Given the description of an element on the screen output the (x, y) to click on. 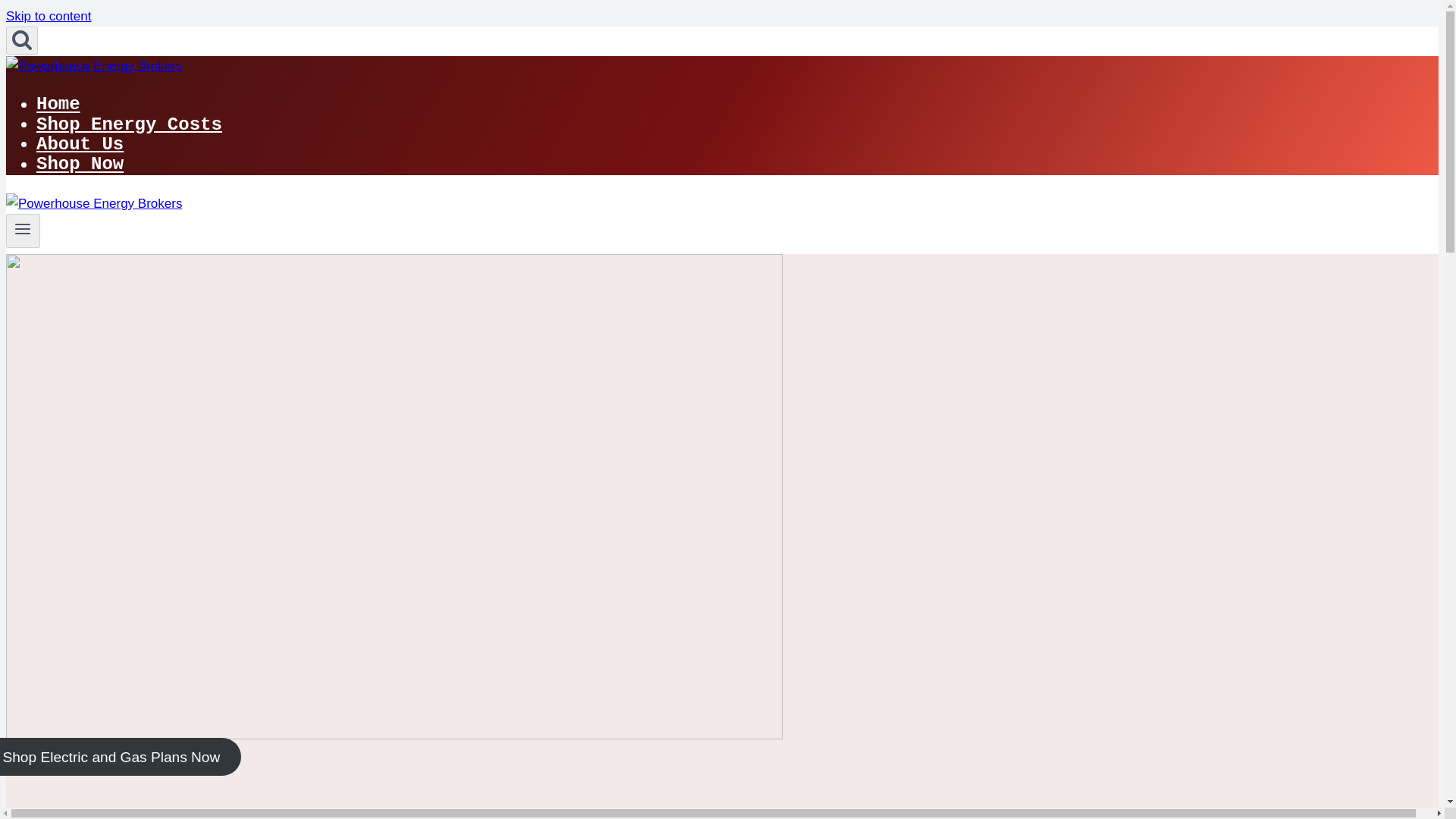
Toggle Menu (22, 230)
Home (58, 104)
Shop Energy Costs (129, 125)
Shop Now (79, 164)
Skip to content (47, 16)
Shop Electric and Gas Plans Now (120, 756)
Skip to content (47, 16)
About Us (79, 144)
Toggle Menu (22, 229)
Search (21, 38)
Search (21, 40)
